Given the description of an element on the screen output the (x, y) to click on. 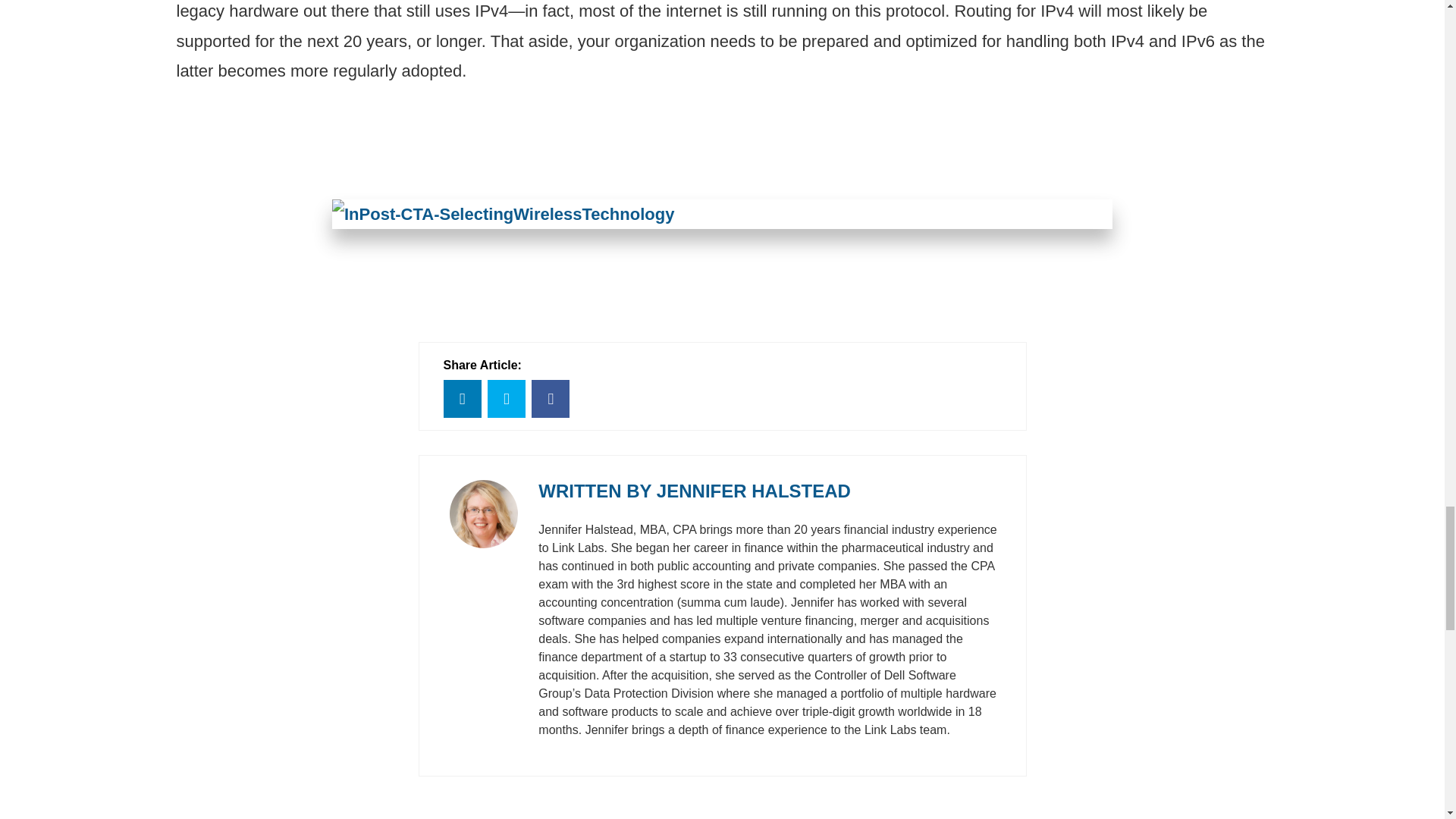
Twitter (506, 398)
Facebook (550, 398)
LinkedIn (461, 398)
JENNIFER HALSTEAD (753, 490)
